Given the description of an element on the screen output the (x, y) to click on. 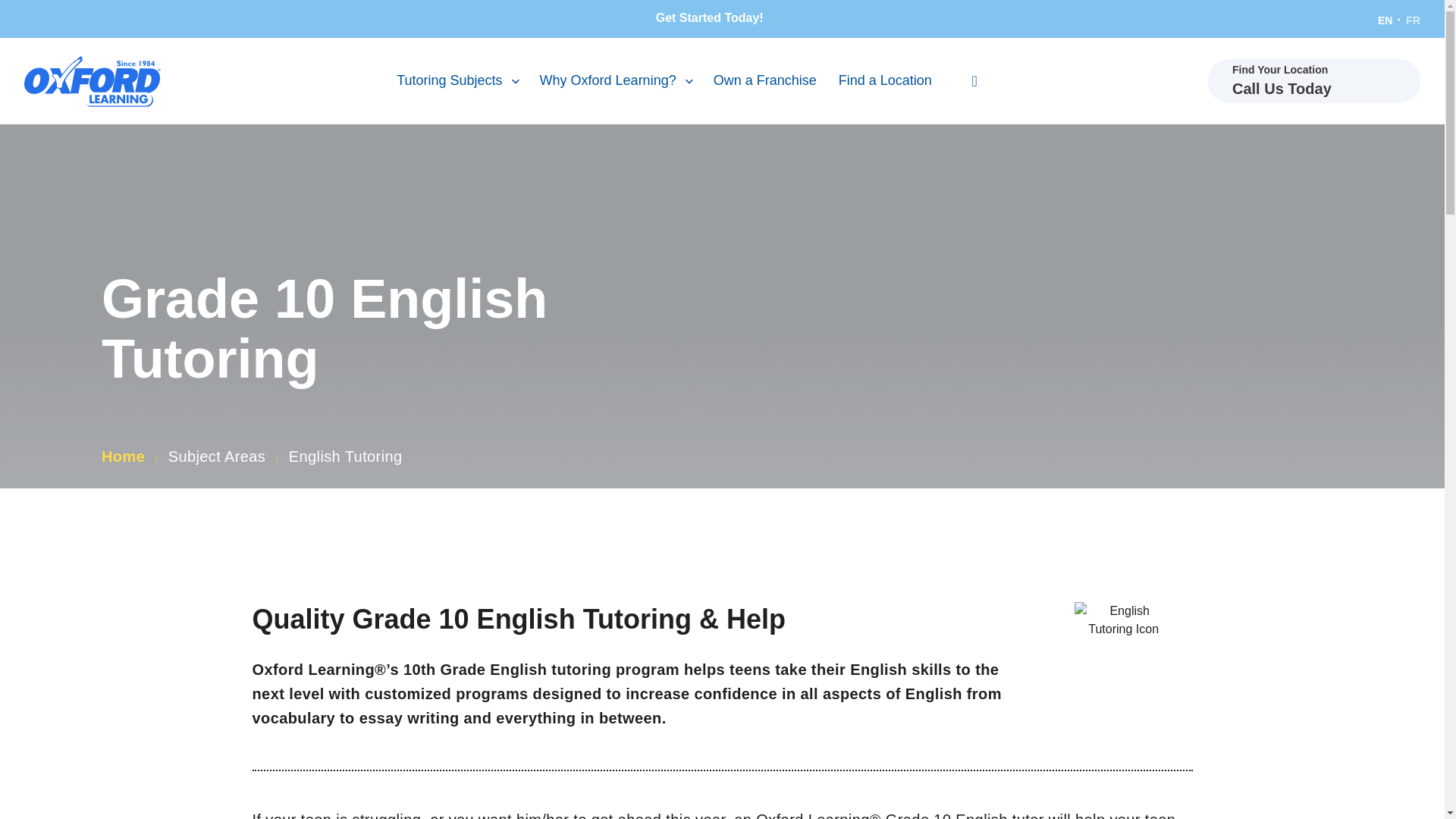
Get Started Today! (722, 18)
EN (1384, 20)
Why Oxford Learning? (615, 80)
FR (1413, 20)
Tutoring Subjects (456, 80)
